Given the description of an element on the screen output the (x, y) to click on. 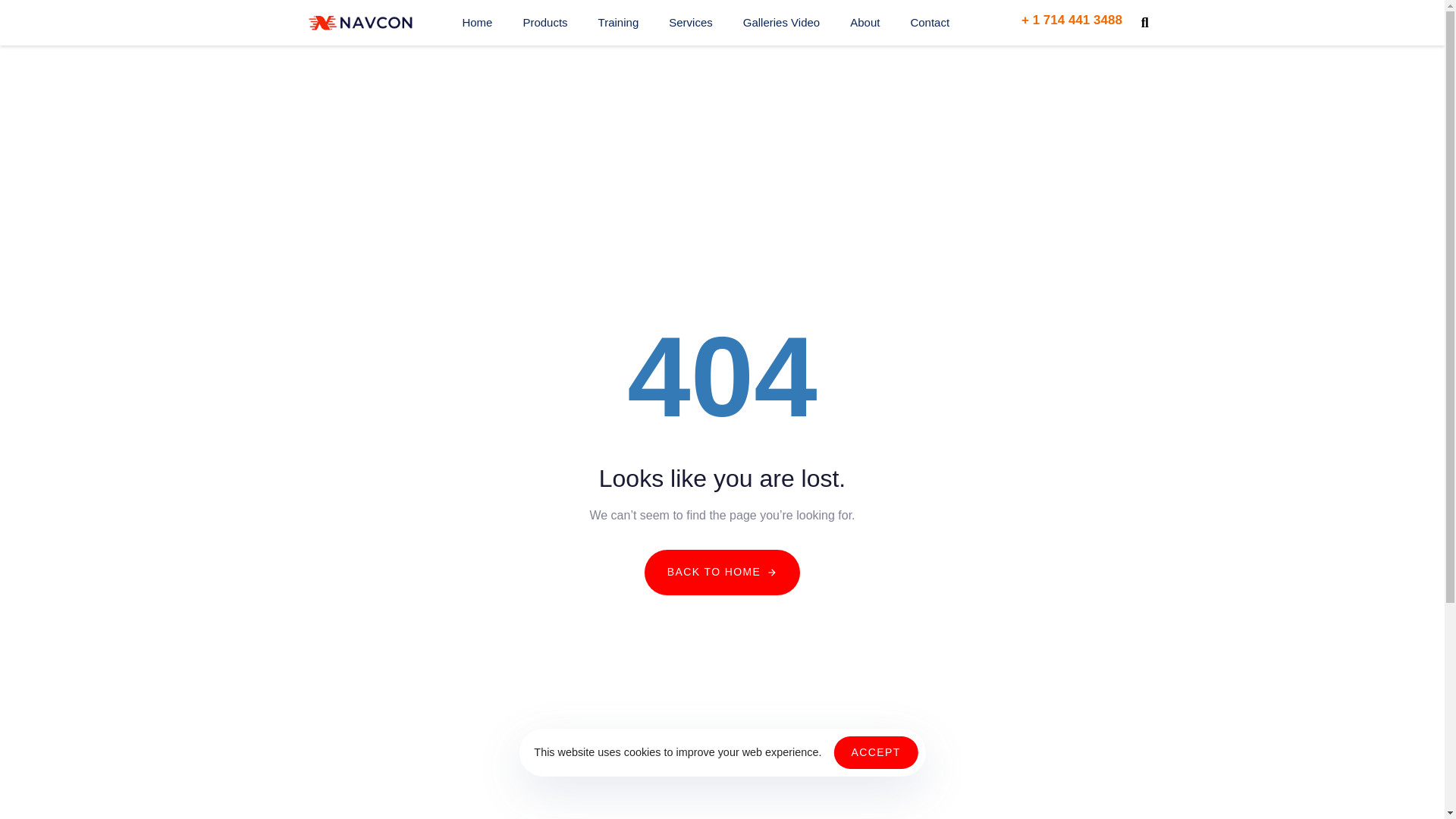
Services (690, 22)
About (864, 22)
Galleries Video (781, 22)
Products (544, 22)
Training (618, 22)
Home (476, 22)
Contact (929, 22)
